Given the description of an element on the screen output the (x, y) to click on. 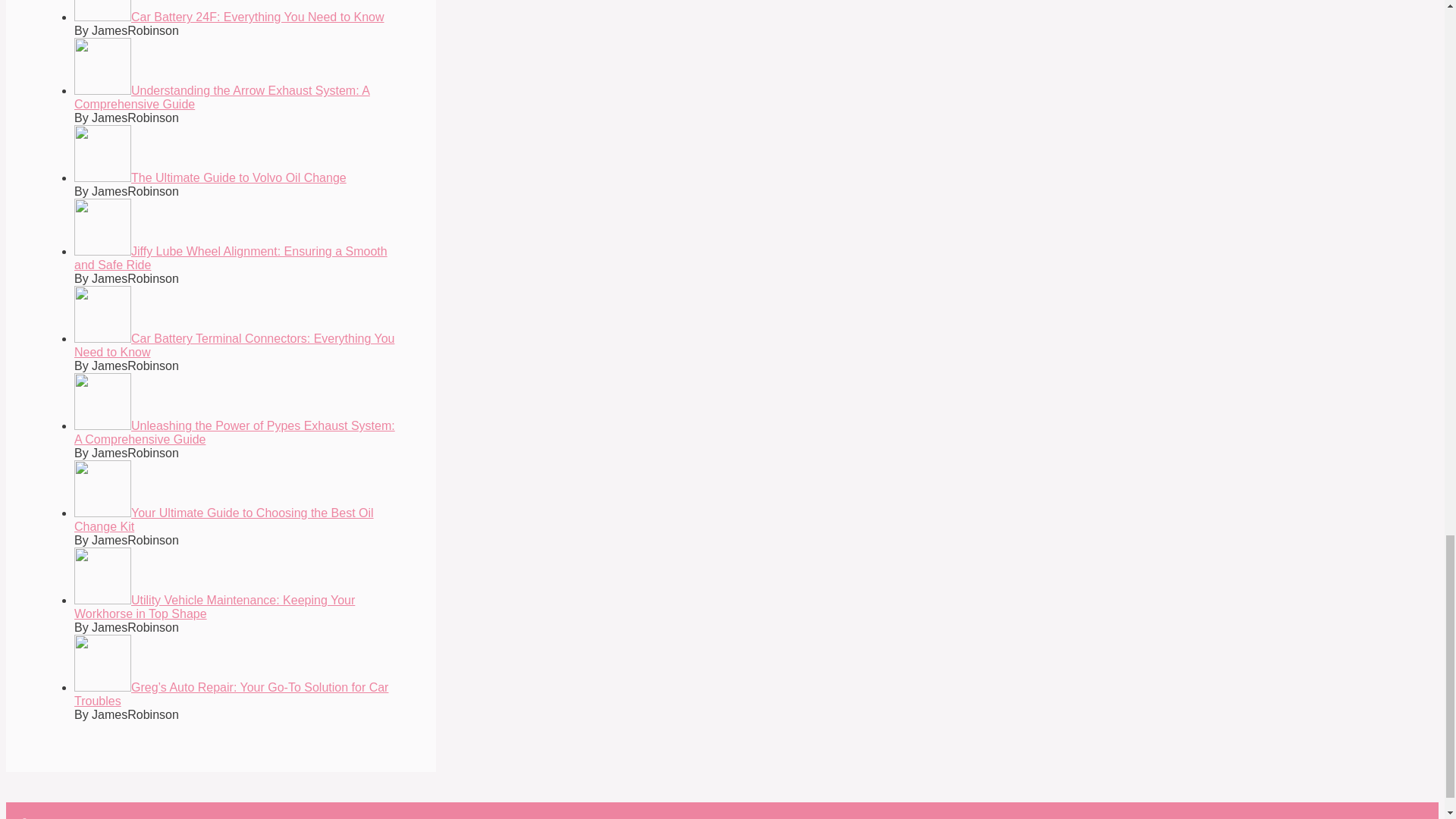
Jiffy Lube Wheel Alignment: Ensuring a Smooth and Safe Ride (230, 257)
The Ultimate Guide to Volvo Oil Change (210, 177)
Your Ultimate Guide to Choosing the Best Oil Change Kit (224, 519)
Car Battery 24F: Everything You Need to Know (229, 16)
Car Battery Terminal Connectors: Everything You Need to Know (234, 345)
